Given the description of an element on the screen output the (x, y) to click on. 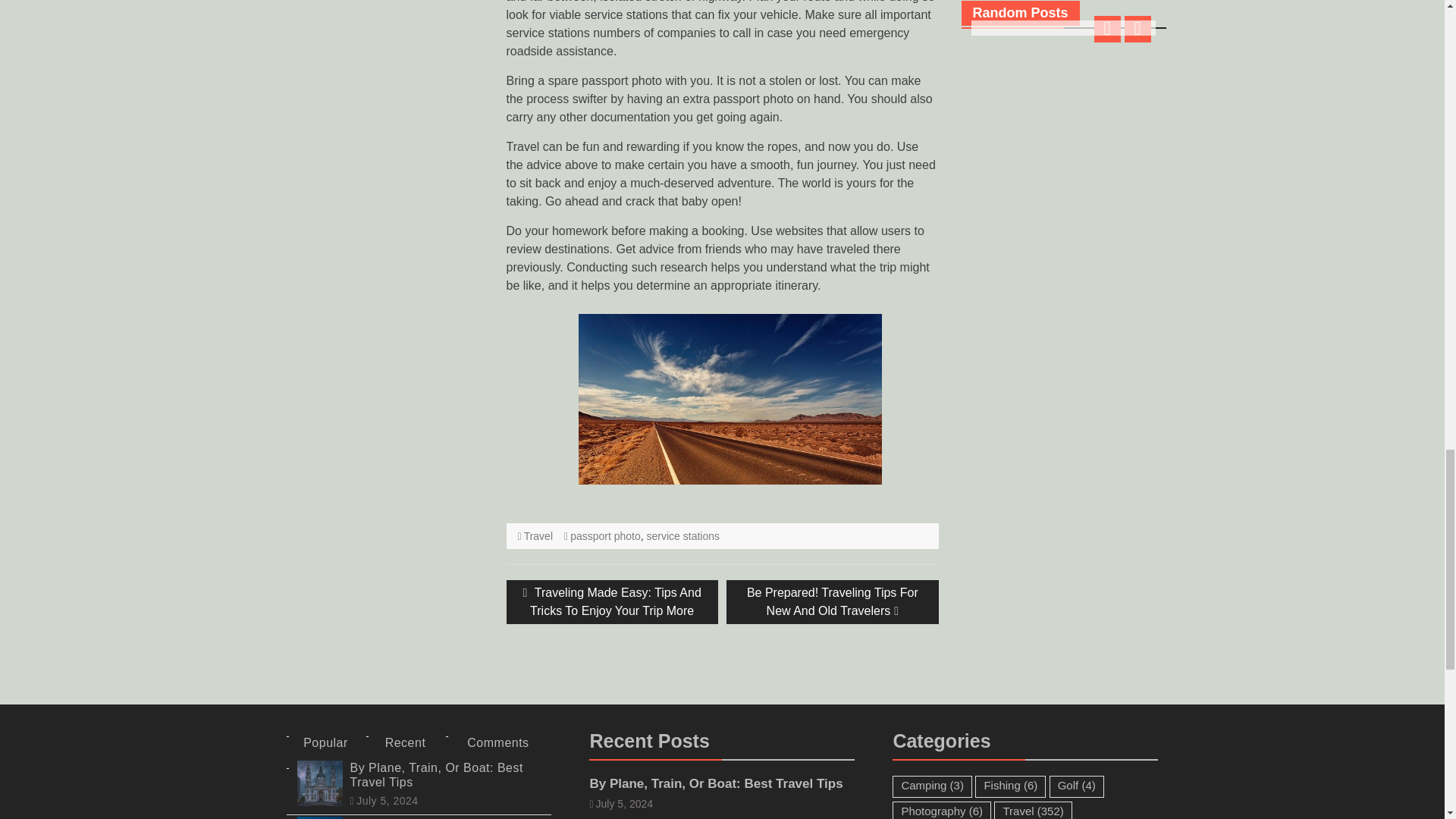
service stations (682, 535)
Travel (538, 535)
passport photo (605, 535)
